Given the description of an element on the screen output the (x, y) to click on. 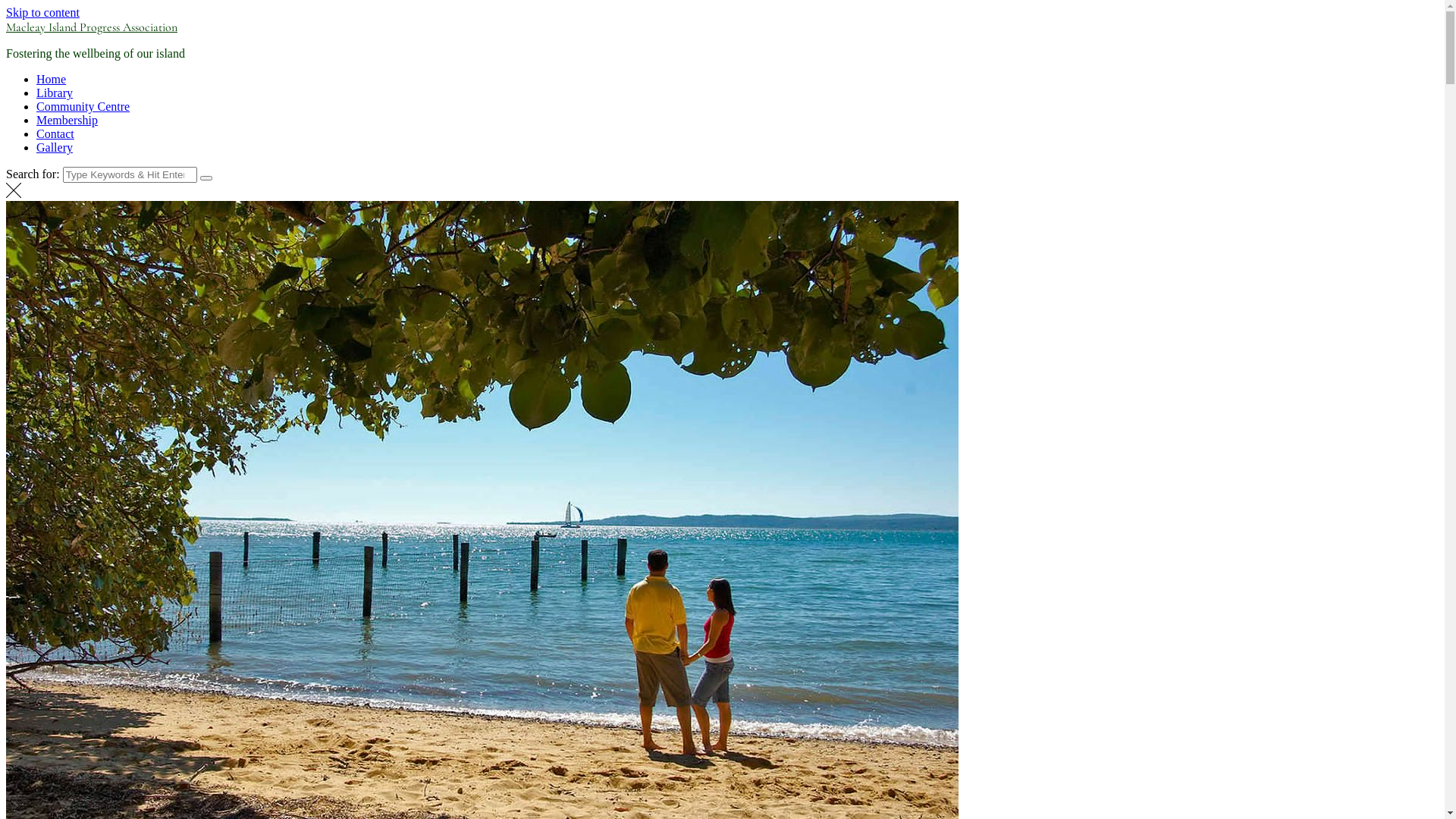
Library Element type: text (54, 92)
Contact Element type: text (55, 133)
Macleay Island Progress Association Element type: text (91, 26)
Membership Element type: text (66, 119)
Gallery Element type: text (54, 147)
Community Centre Element type: text (82, 106)
Home Element type: text (50, 78)
Skip to content Element type: text (42, 12)
